Given the description of an element on the screen output the (x, y) to click on. 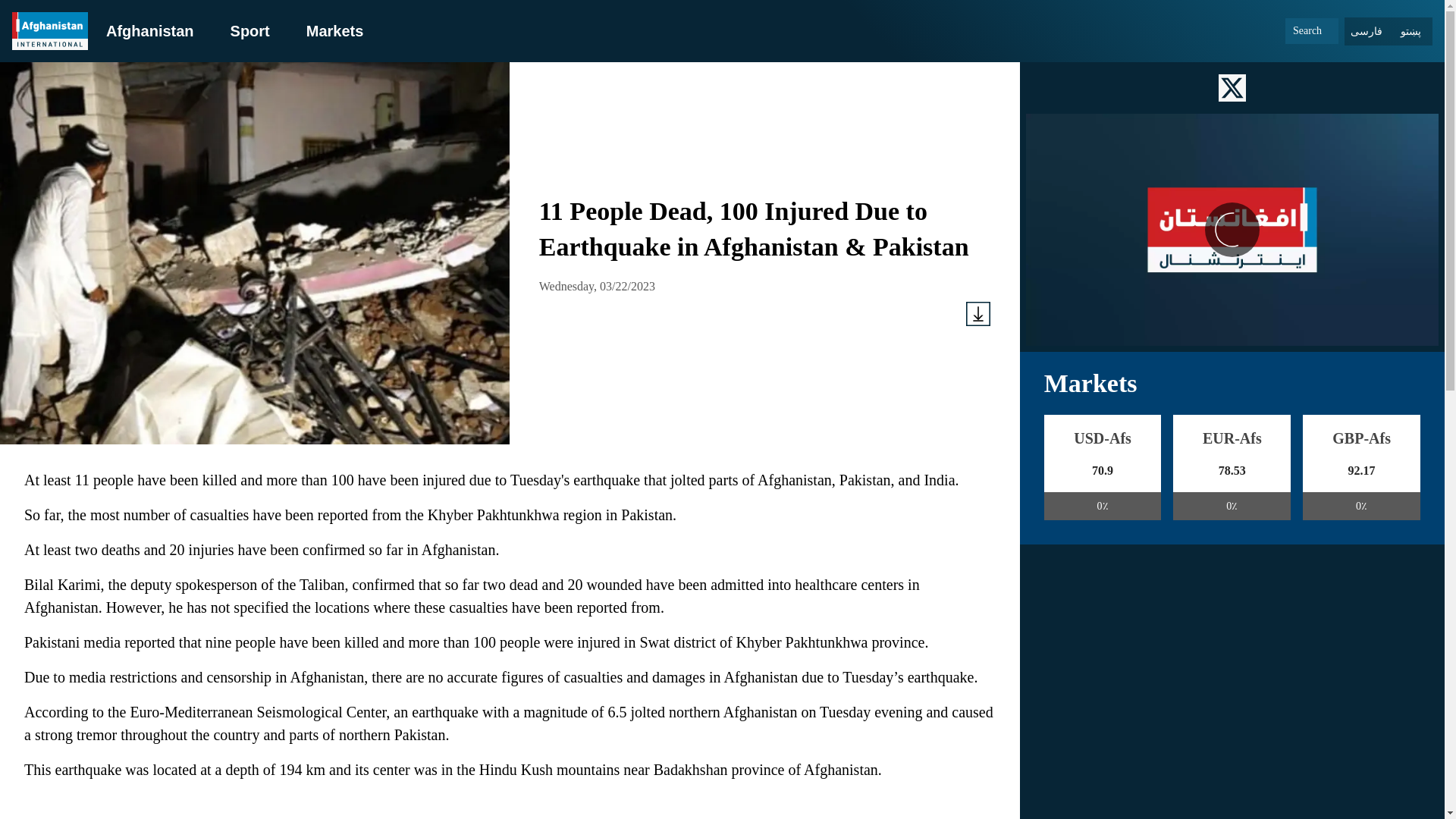
Afghanistan (149, 30)
Sport (249, 30)
Live TV (1232, 229)
Markets (334, 30)
